Given the description of an element on the screen output the (x, y) to click on. 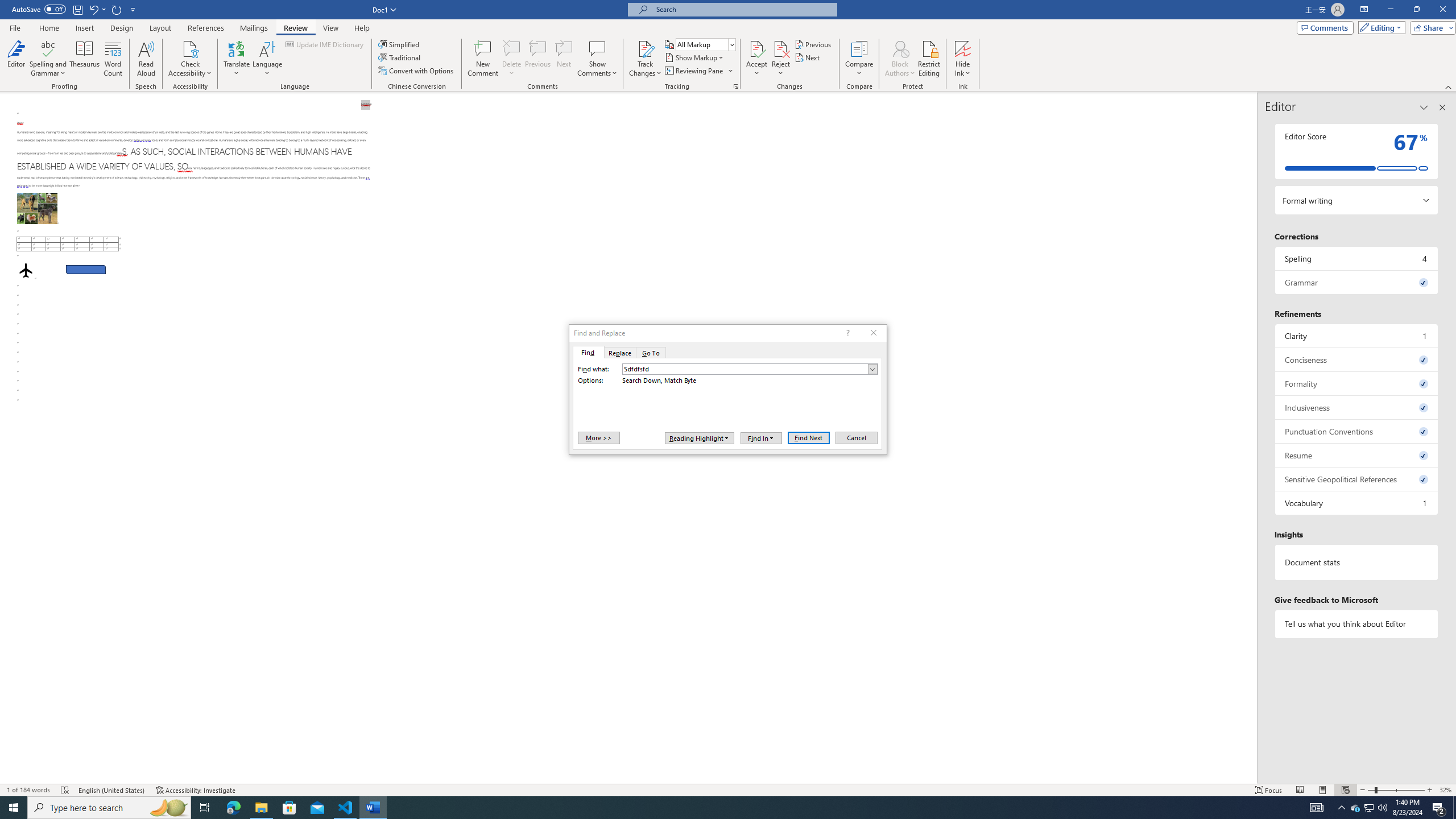
Zoom 32% (1445, 790)
Hide Ink (962, 48)
Conciseness, 0 issues. Press space or enter to review items. (1356, 359)
Undo Paragraph Alignment (96, 9)
Block Authors (900, 58)
Next (808, 56)
Reject (780, 58)
Show Comments (597, 58)
